Given the description of an element on the screen output the (x, y) to click on. 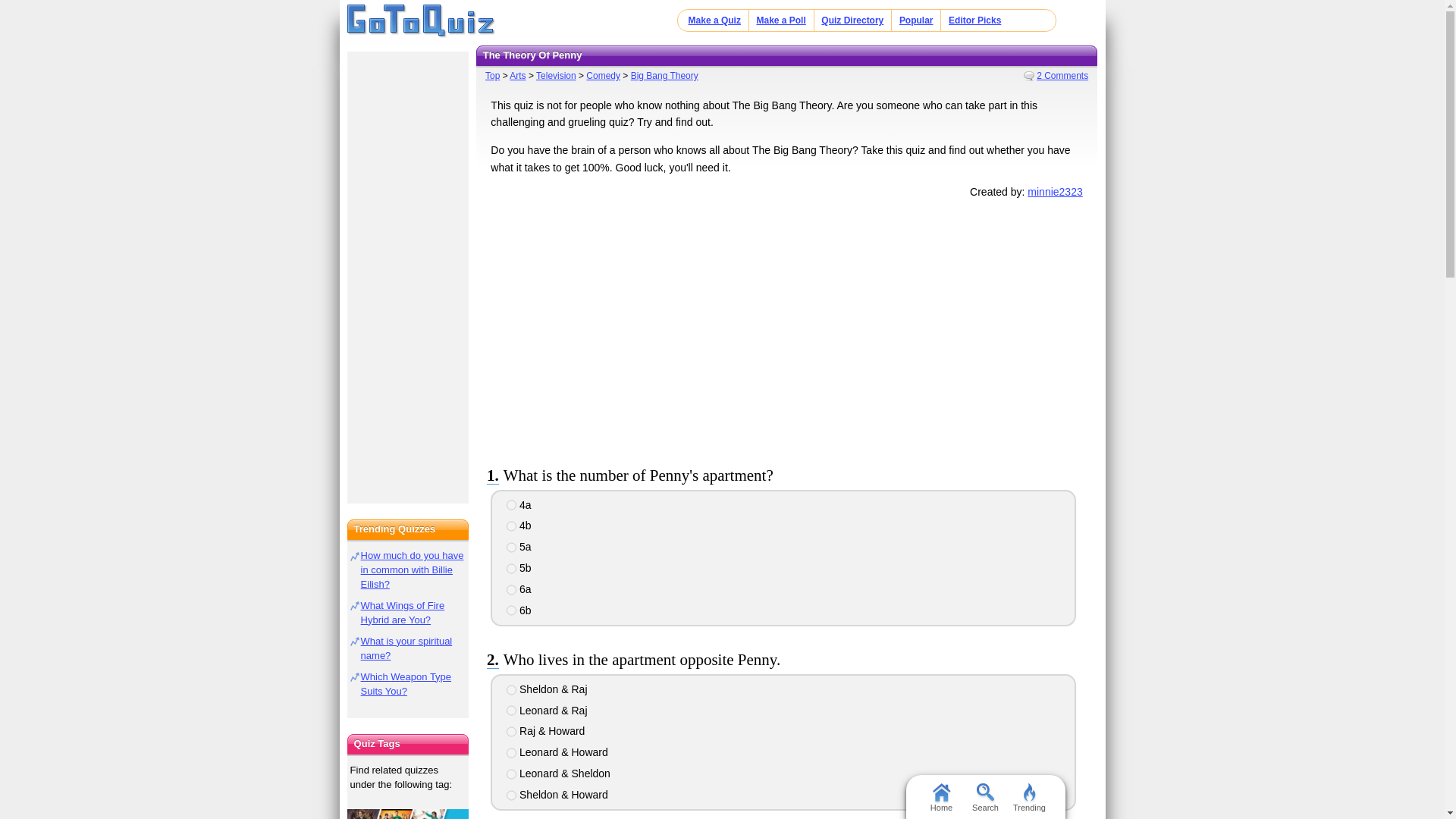
Make a Poll (780, 20)
5 (511, 589)
minnie2323 (1054, 191)
What Wings of Fire Hybrid are You? (403, 612)
3 (511, 547)
Which Weapon Type Suits You? (406, 683)
4 (511, 568)
Home (940, 796)
Home (421, 20)
2 (511, 710)
